Given the description of an element on the screen output the (x, y) to click on. 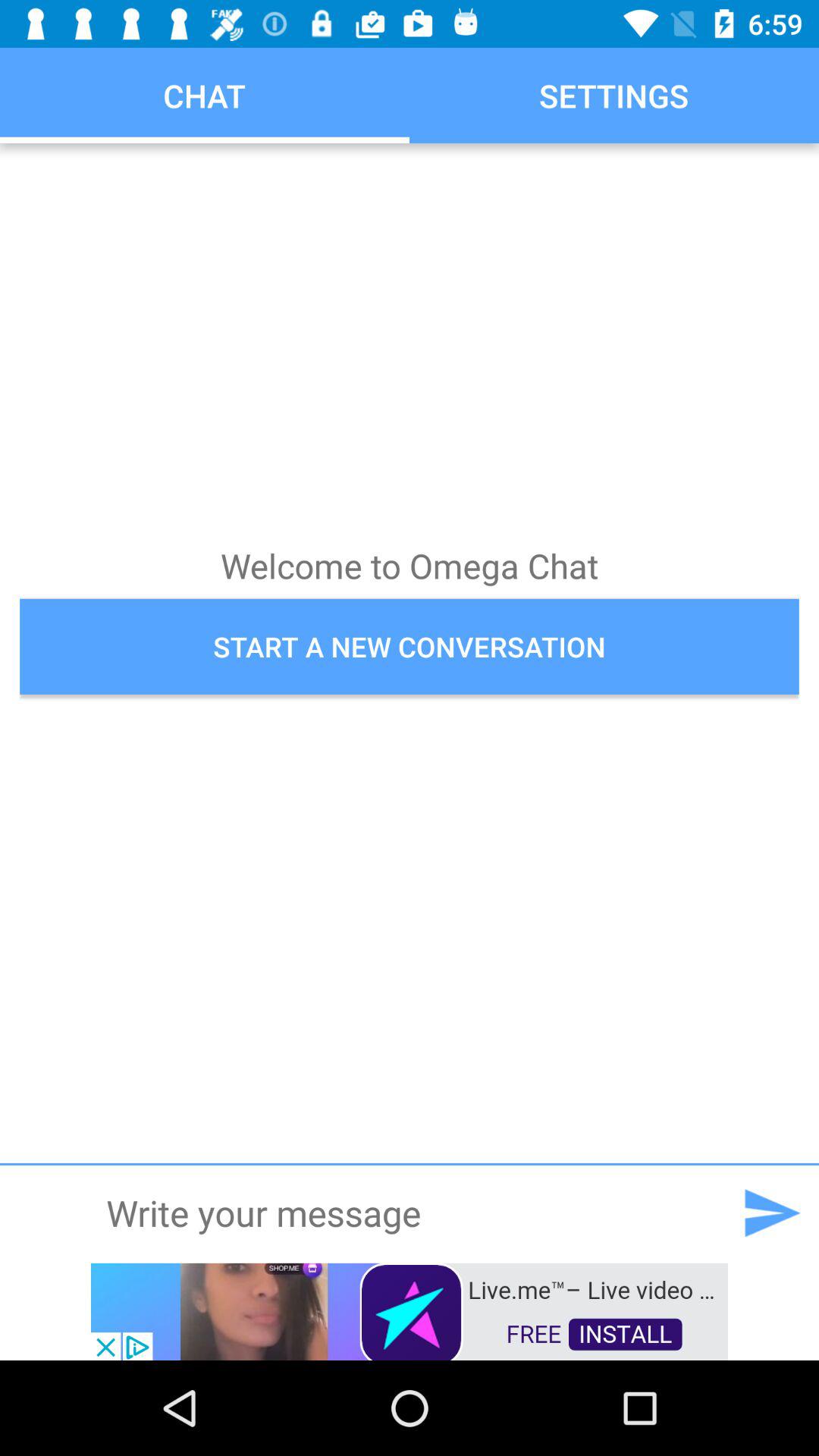
type message (409, 1212)
